Given the description of an element on the screen output the (x, y) to click on. 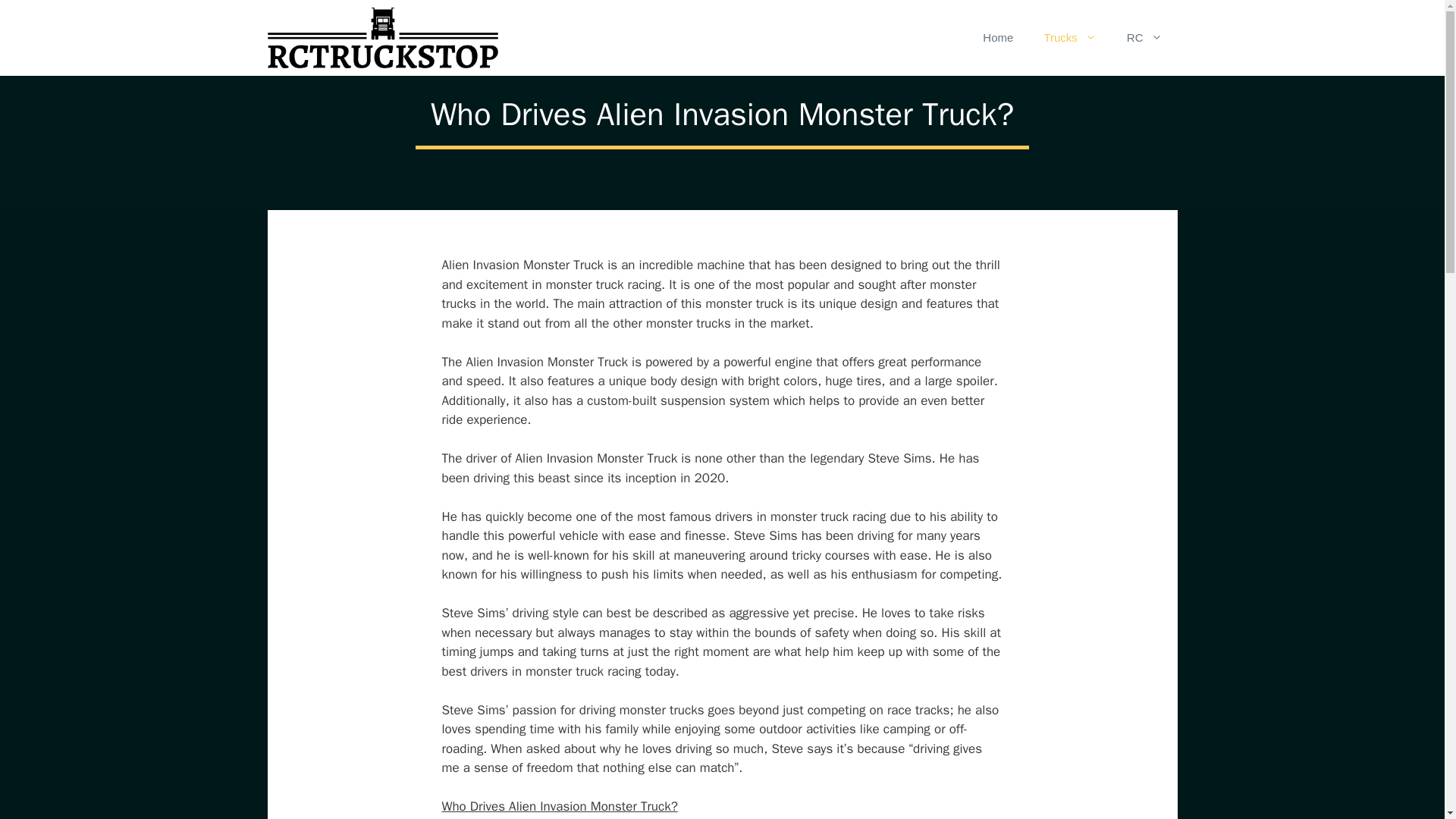
Home (997, 37)
RCTruckStop (381, 38)
RC (1144, 37)
Trucks (1068, 37)
